Given the description of an element on the screen output the (x, y) to click on. 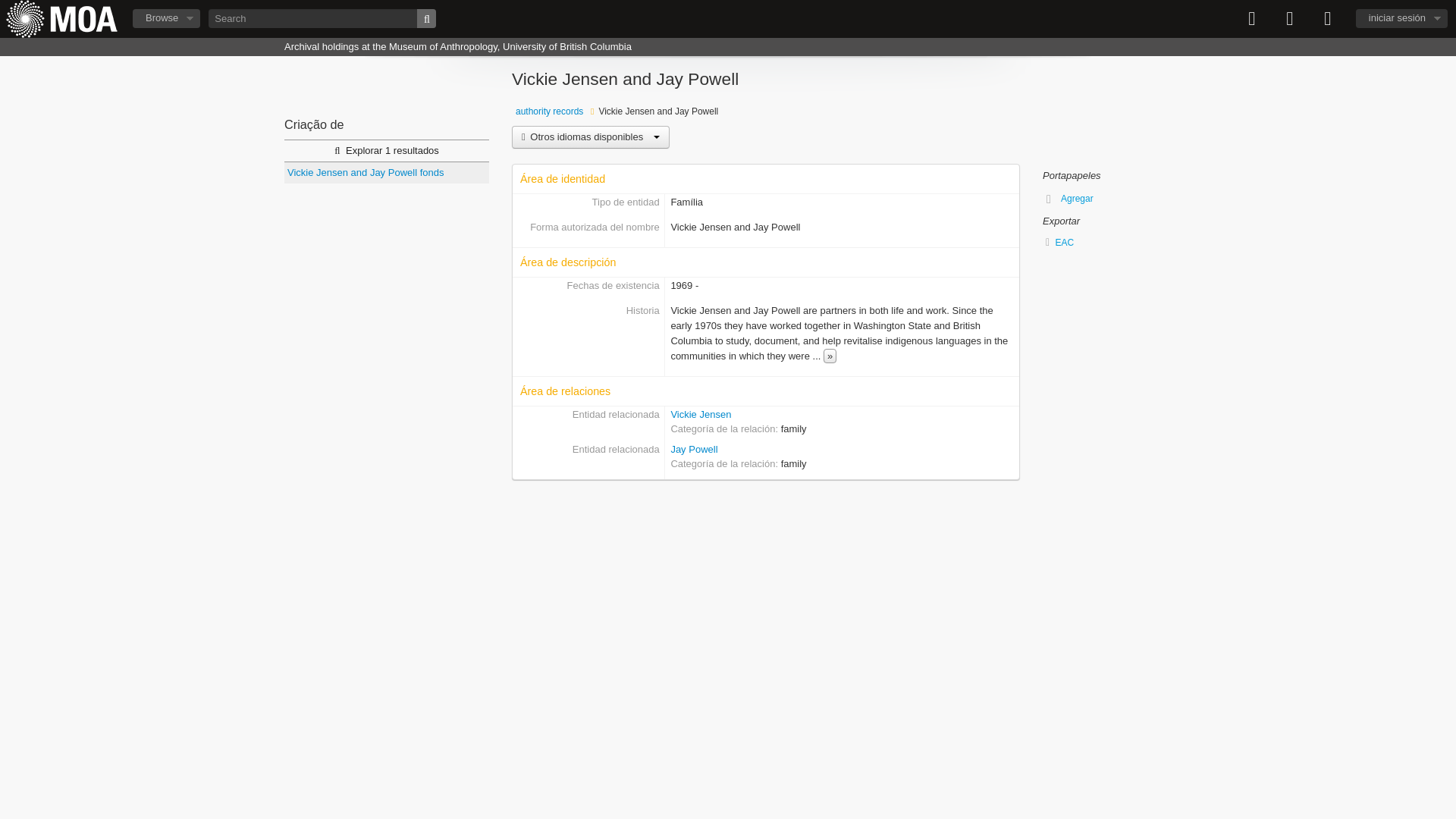
Vickie Jensen (699, 414)
Browse (166, 18)
EAC (1107, 242)
Explorar 1 resultados (386, 150)
Portapapeles (1252, 18)
authority records (549, 111)
Otros idiomas disponibles (590, 137)
Jay Powell (693, 449)
Agregar (1070, 198)
Vickie Jensen and Jay Powell fonds (386, 172)
